Given the description of an element on the screen output the (x, y) to click on. 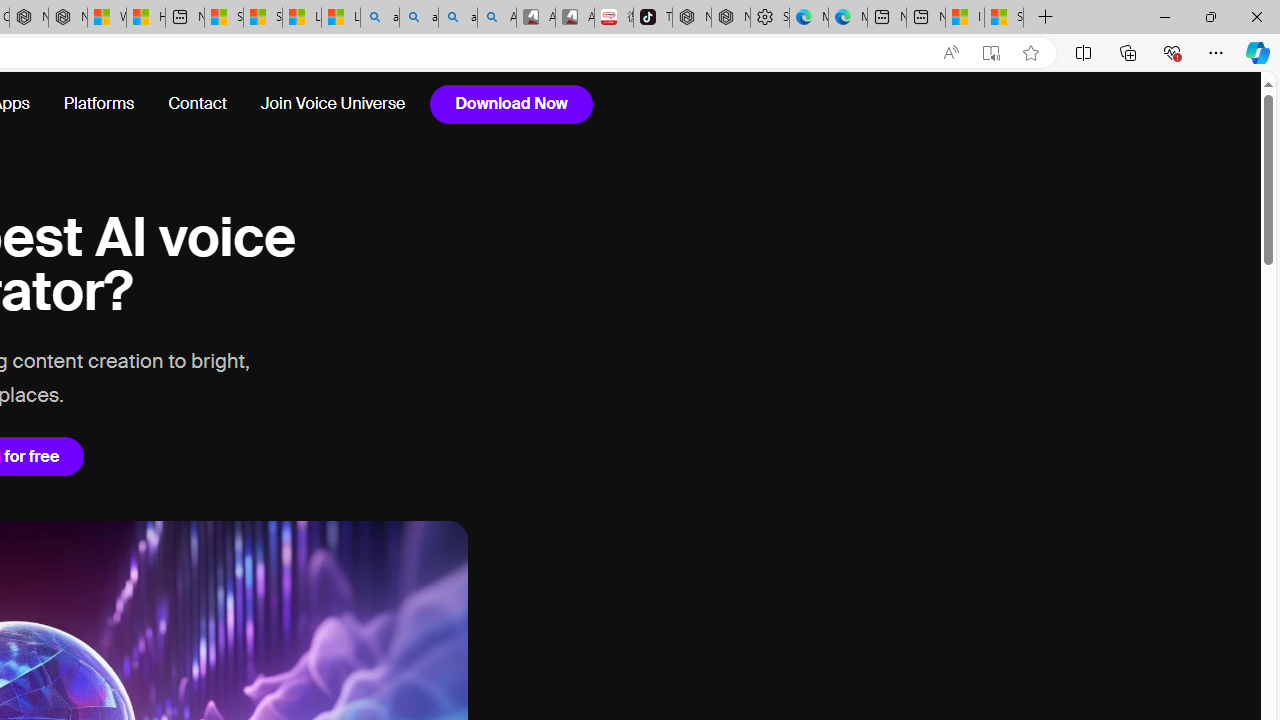
Join Voice Universe (324, 103)
Huge shark washes ashore at New York City beach | Watch (145, 17)
Contact (197, 103)
I Gained 20 Pounds of Muscle in 30 Days! | Watch (964, 17)
Settings (769, 17)
